Given the description of an element on the screen output the (x, y) to click on. 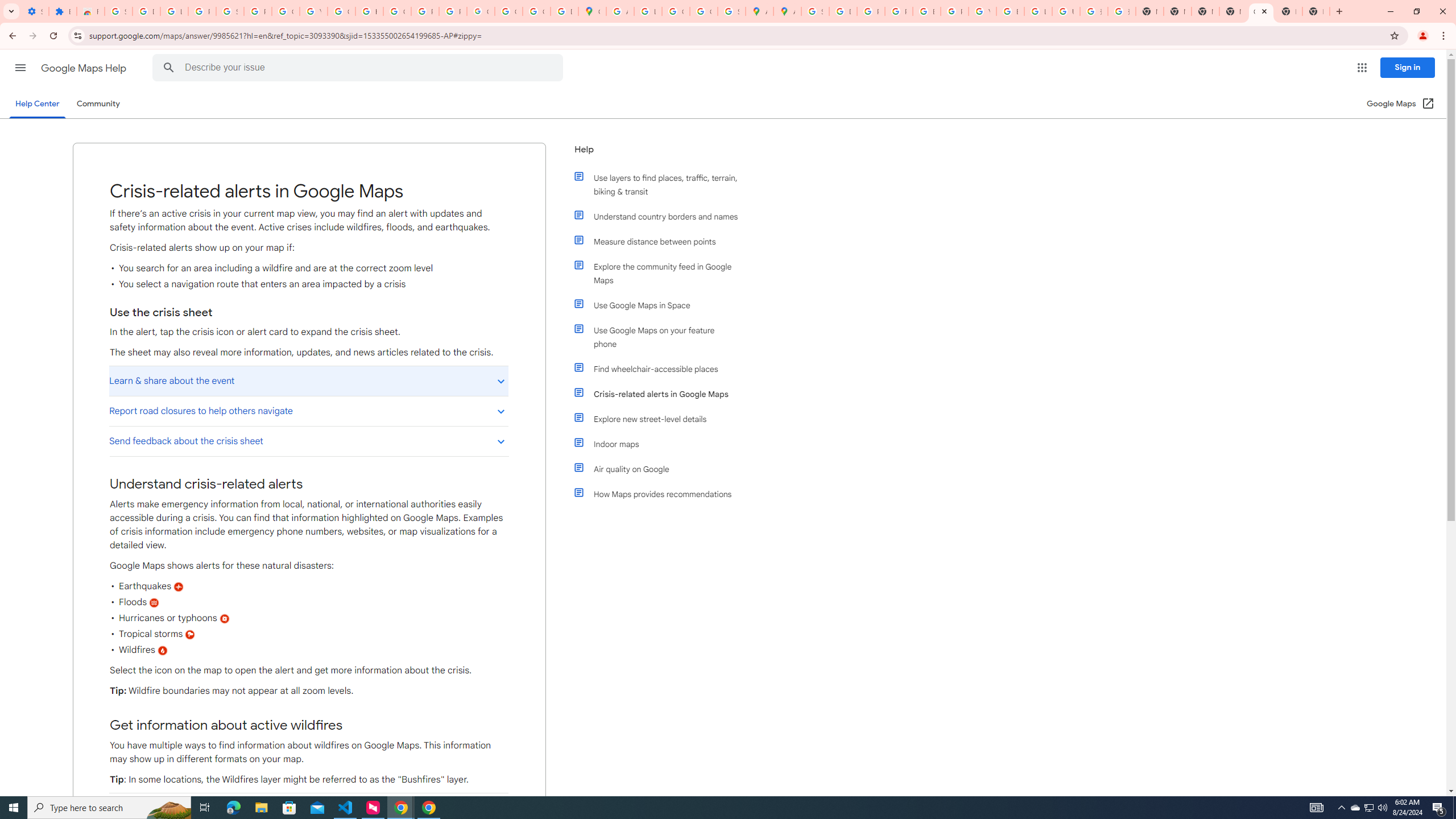
Reviews: Helix Fruit Jump Arcade Game (90, 11)
How Maps provides recommendations (661, 493)
Google Maps (592, 11)
Understand country borders and names (661, 216)
Safety in Our Products - Google Safety Center (731, 11)
Crisis-related alerts in Google Maps (661, 394)
https://scholar.google.com/ (369, 11)
YouTube (313, 11)
